Given the description of an element on the screen output the (x, y) to click on. 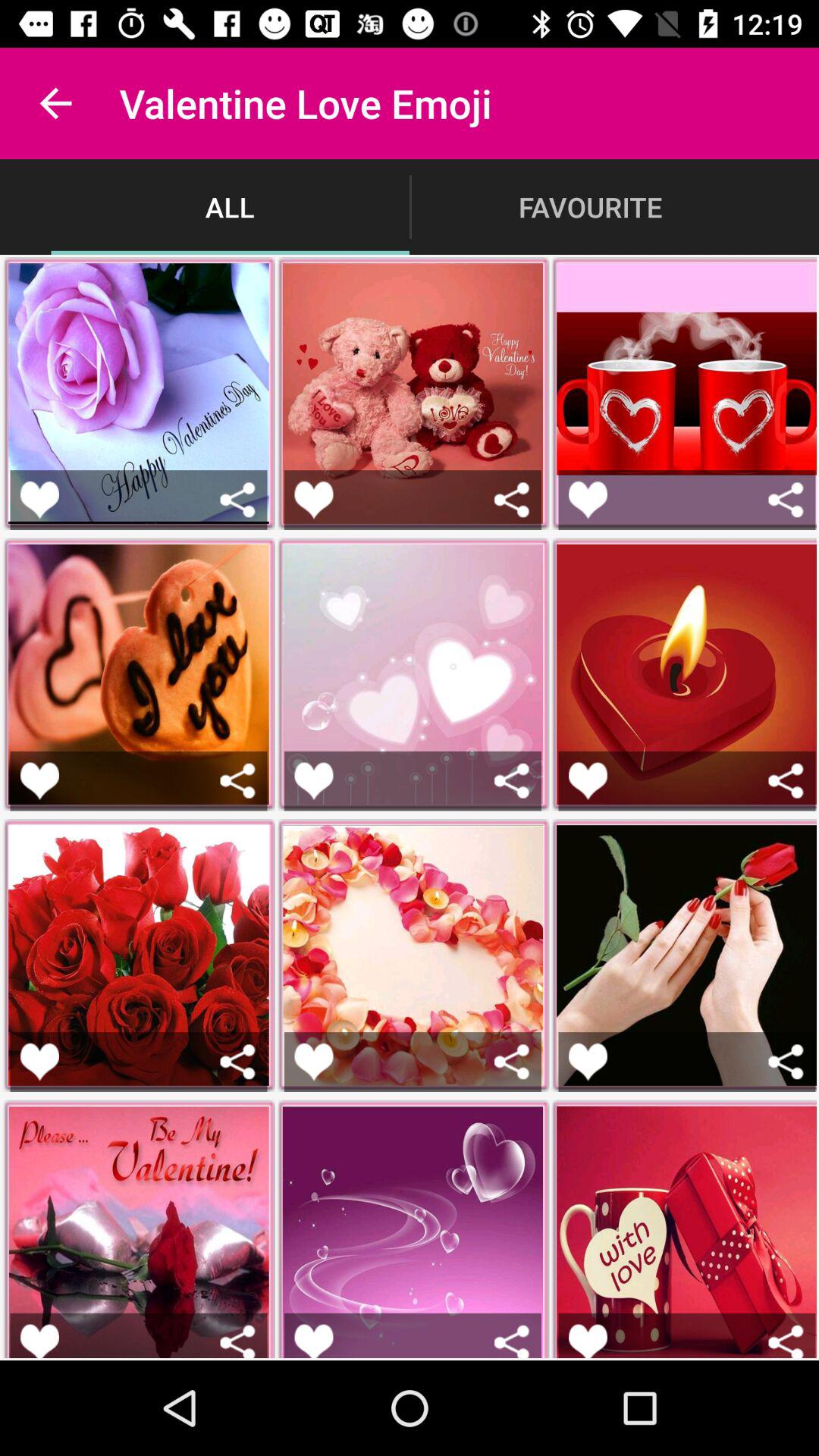
add to favorites (587, 499)
